Given the description of an element on the screen output the (x, y) to click on. 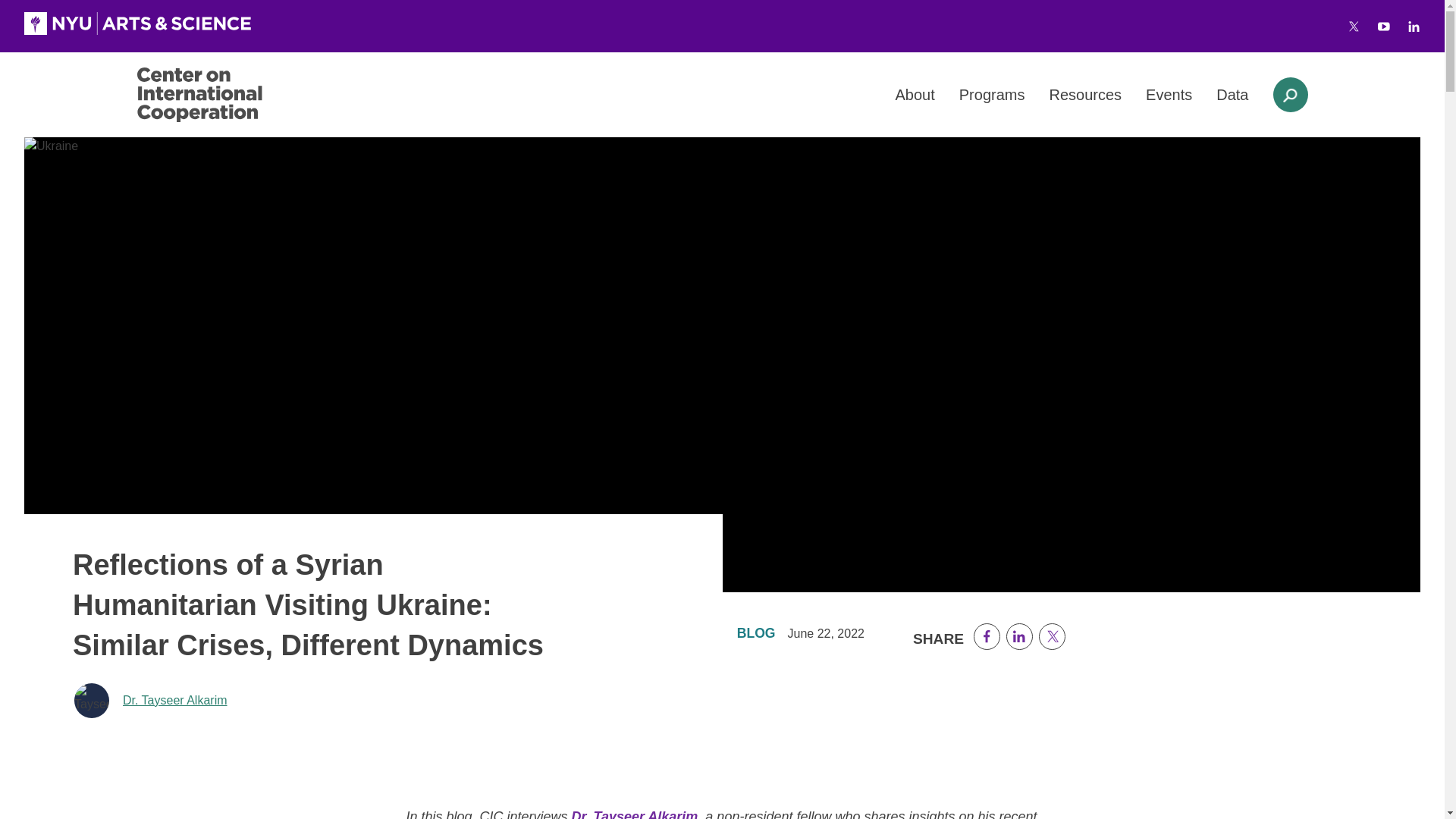
LinkedIn (1414, 26)
YouTube (1383, 26)
Resources (1084, 94)
Data (1231, 94)
Events (1168, 94)
Programs (992, 94)
About (914, 94)
Twitter (1353, 26)
